Given the description of an element on the screen output the (x, y) to click on. 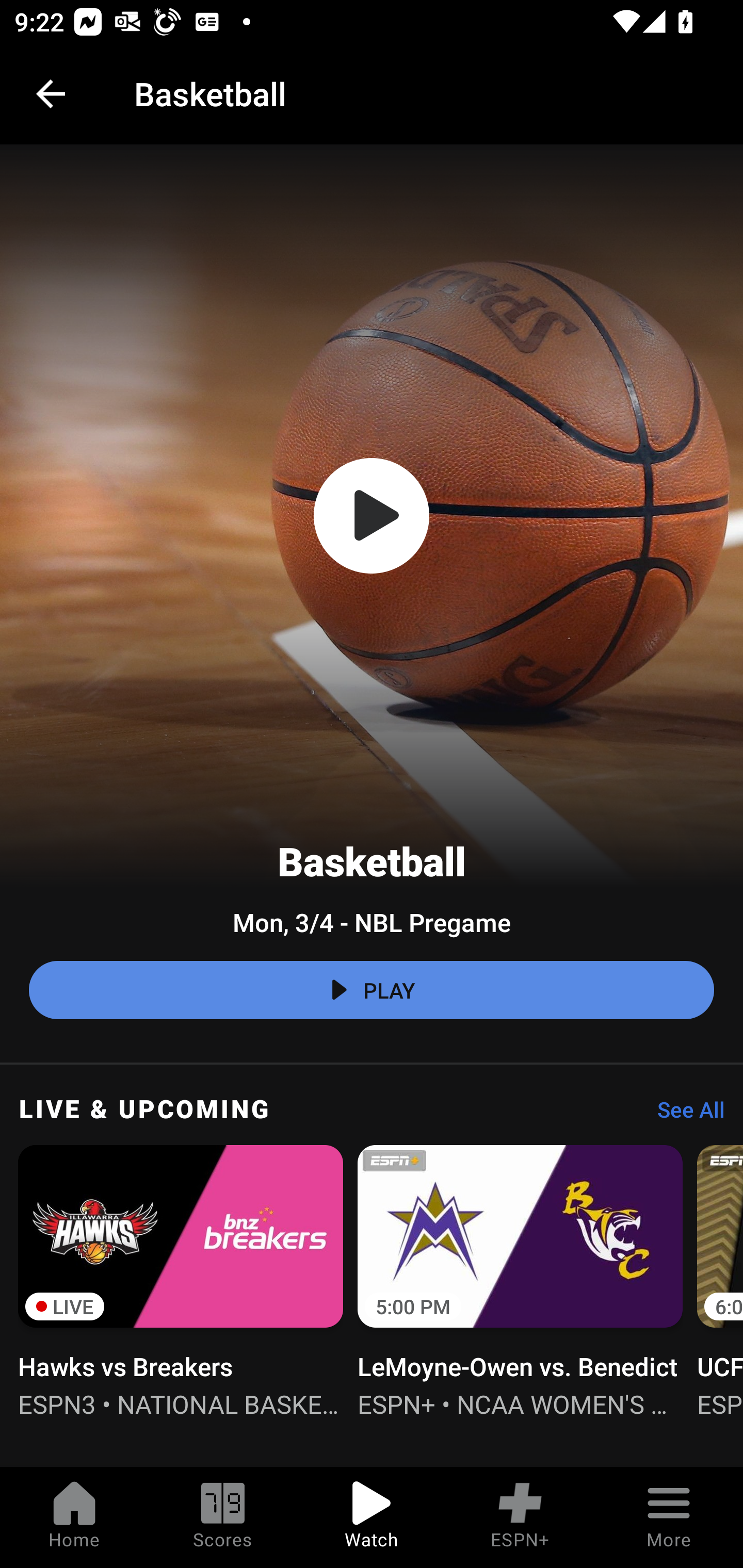
 (371, 515)
PLAY (371, 990)
See All (683, 1114)
Home (74, 1517)
Scores (222, 1517)
ESPN+ (519, 1517)
More (668, 1517)
